Given the description of an element on the screen output the (x, y) to click on. 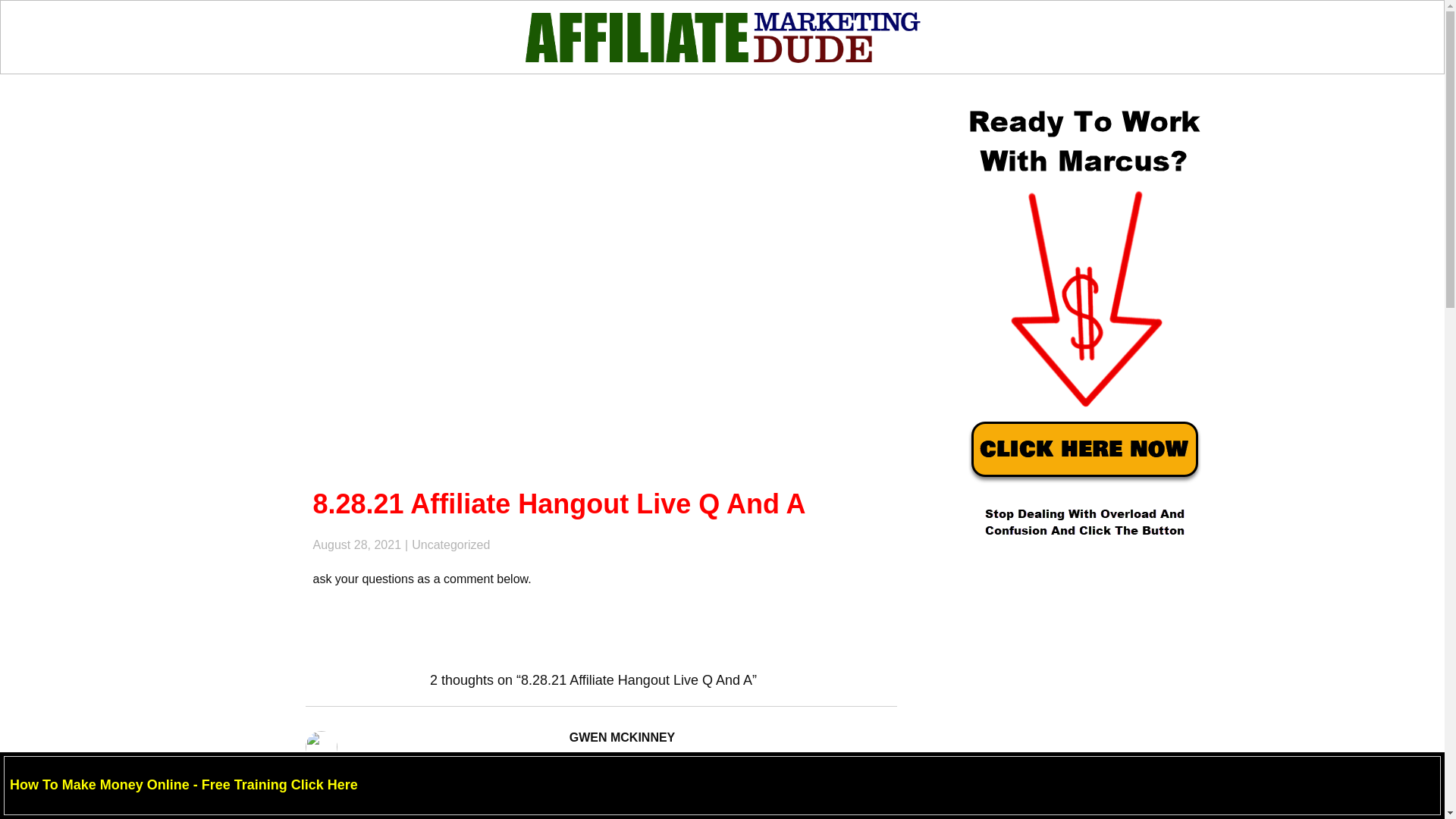
August 30, 2021 at 4:20 pm (421, 757)
Uncategorized (450, 544)
How To Make Money Online - Free Training Click Here (184, 784)
